Given the description of an element on the screen output the (x, y) to click on. 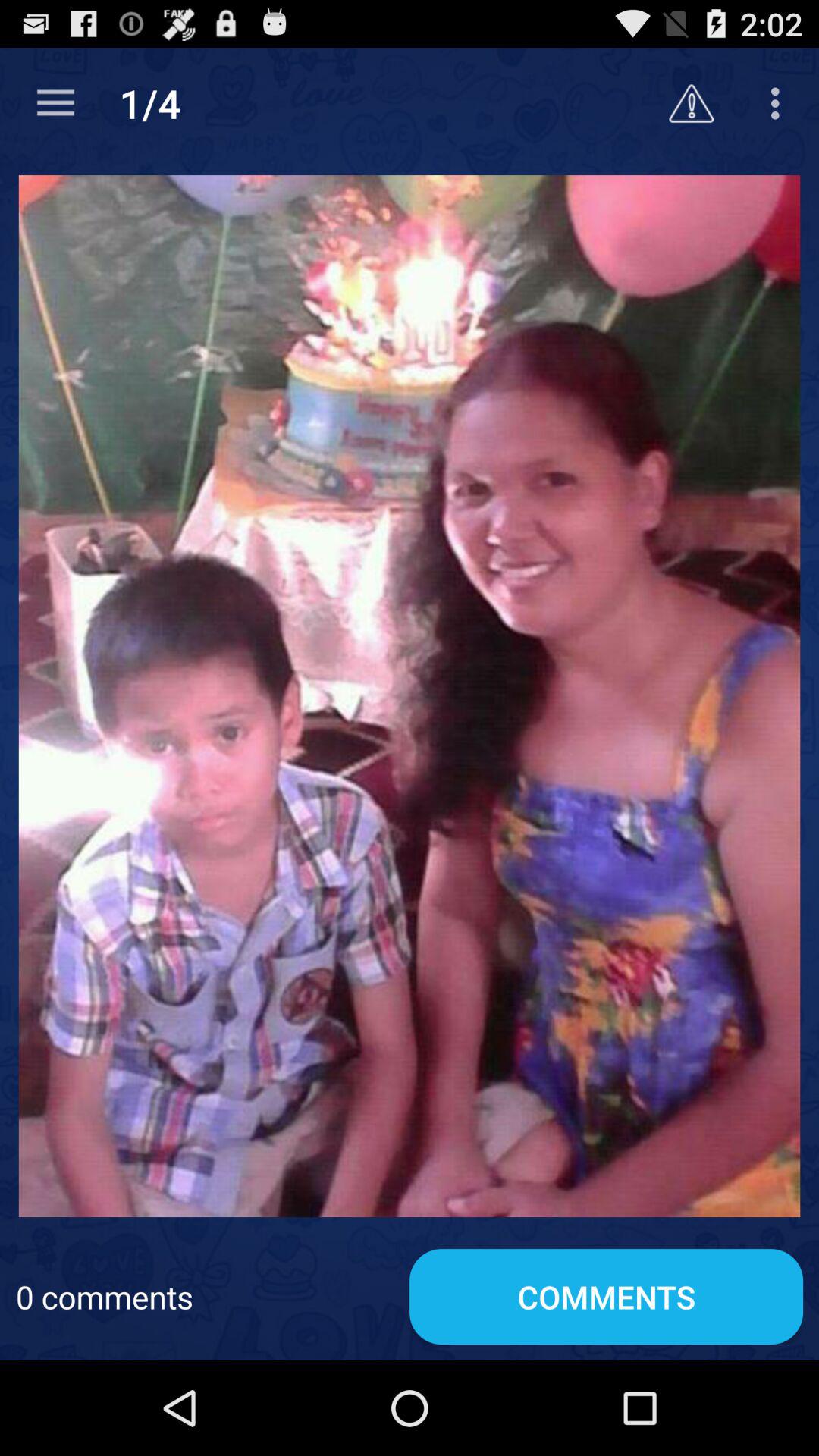
choose the item next to the 1/4 app (55, 103)
